Given the description of an element on the screen output the (x, y) to click on. 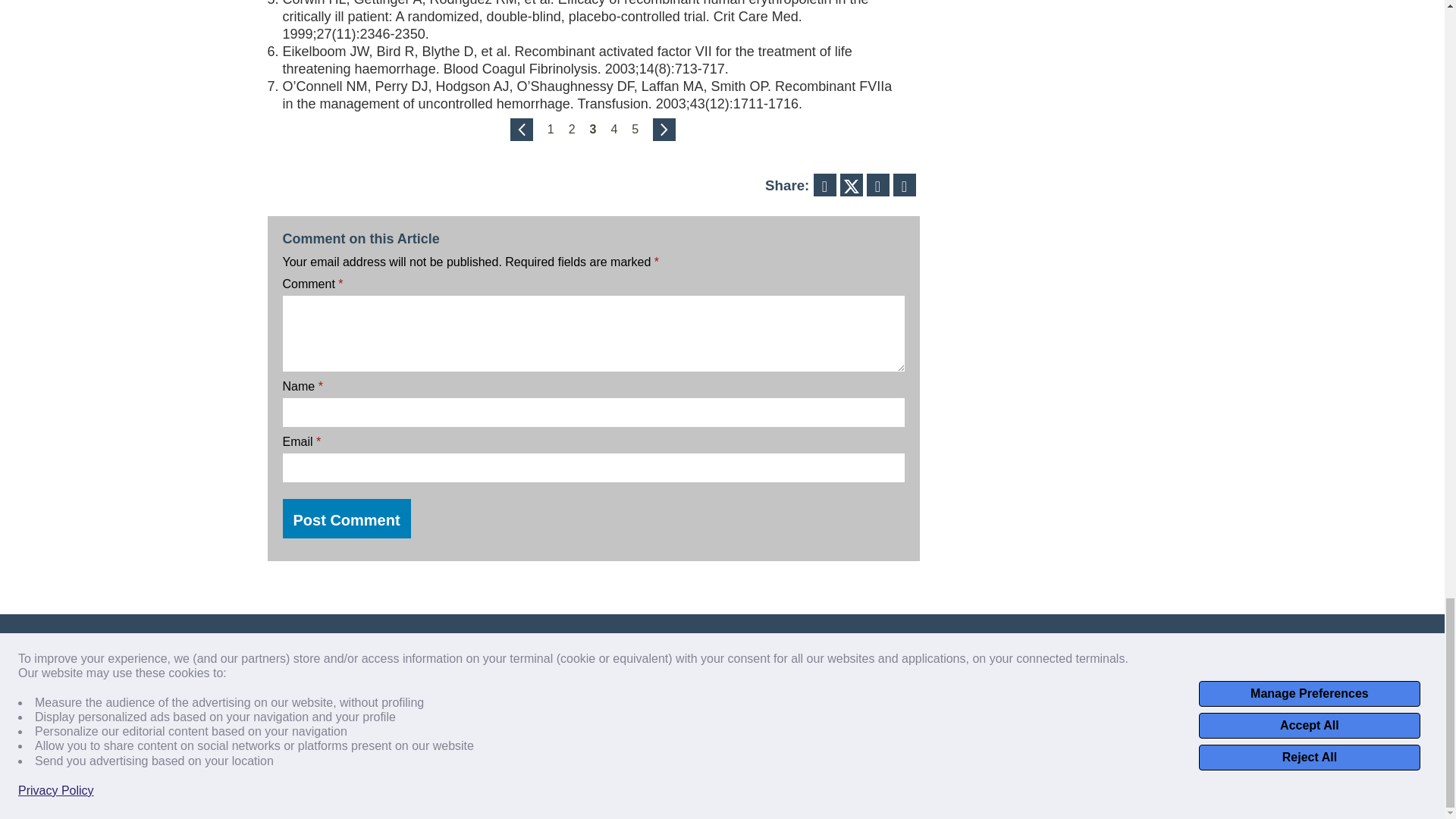
Post Comment (346, 518)
